Given the description of an element on the screen output the (x, y) to click on. 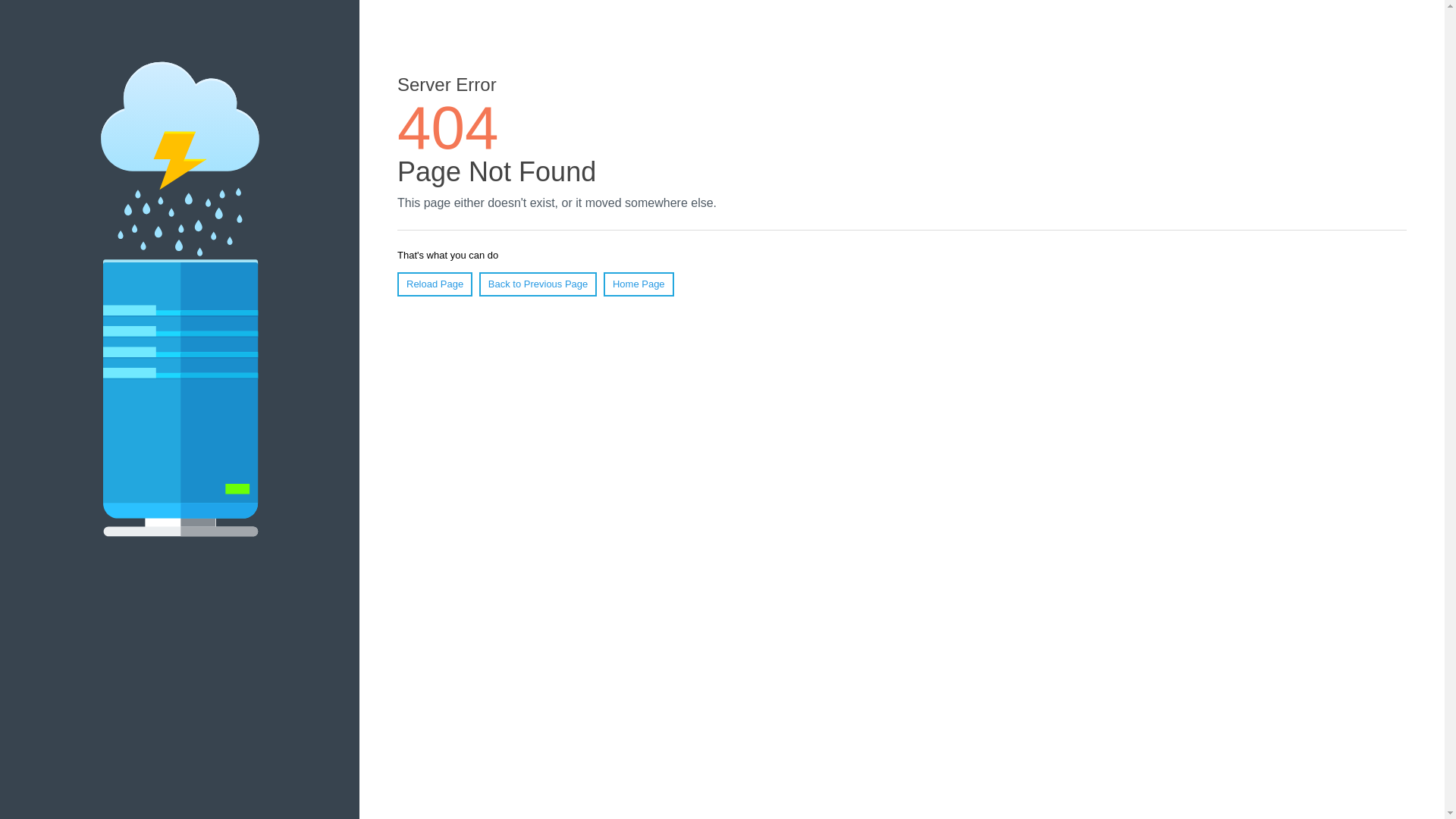
Home Page Element type: text (638, 284)
Back to Previous Page Element type: text (538, 284)
Reload Page Element type: text (434, 284)
